Given the description of an element on the screen output the (x, y) to click on. 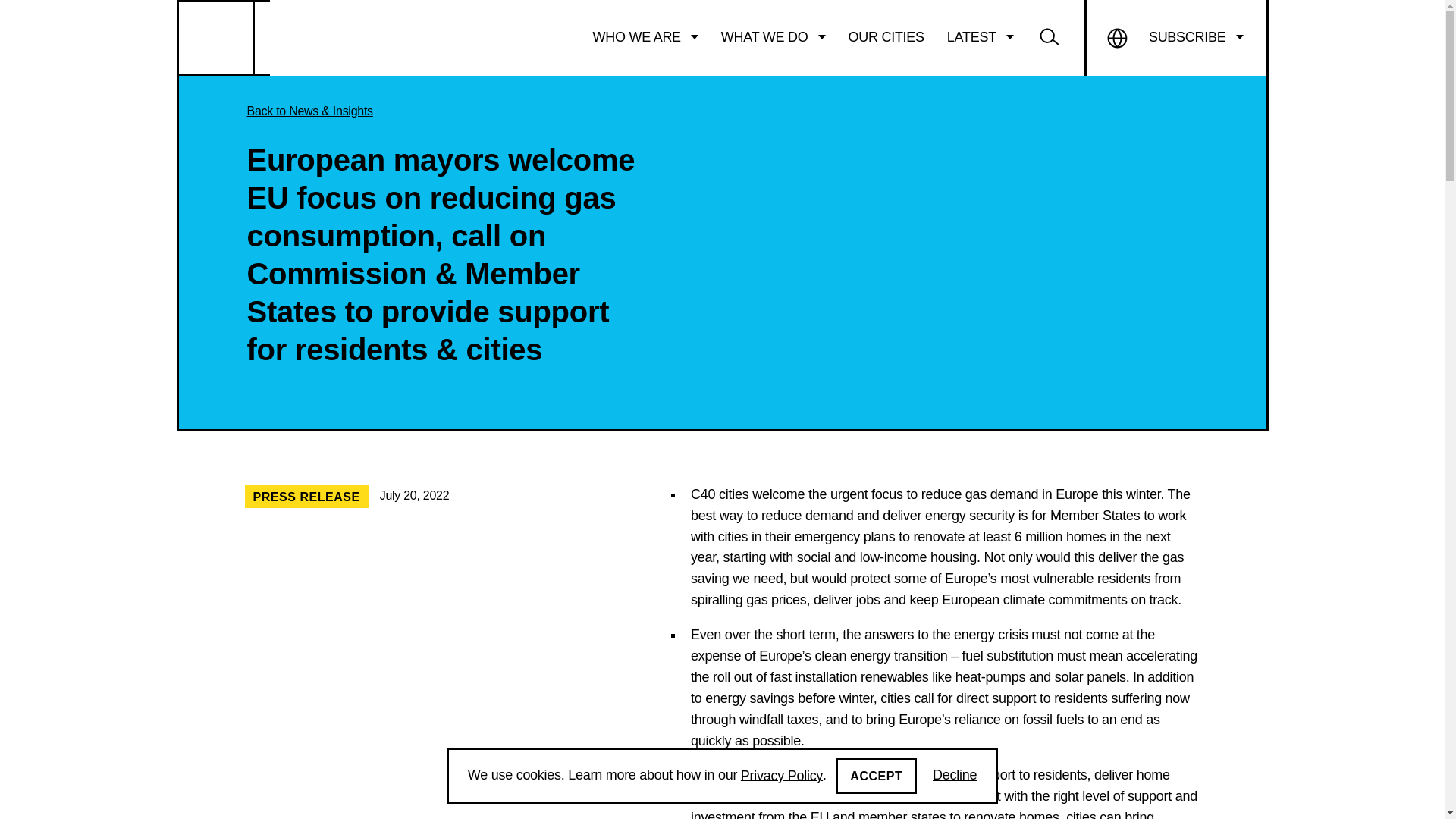
OUR CITIES (886, 37)
WHAT WE DO (773, 37)
LATEST (980, 37)
WHO WE ARE (645, 37)
